Given the description of an element on the screen output the (x, y) to click on. 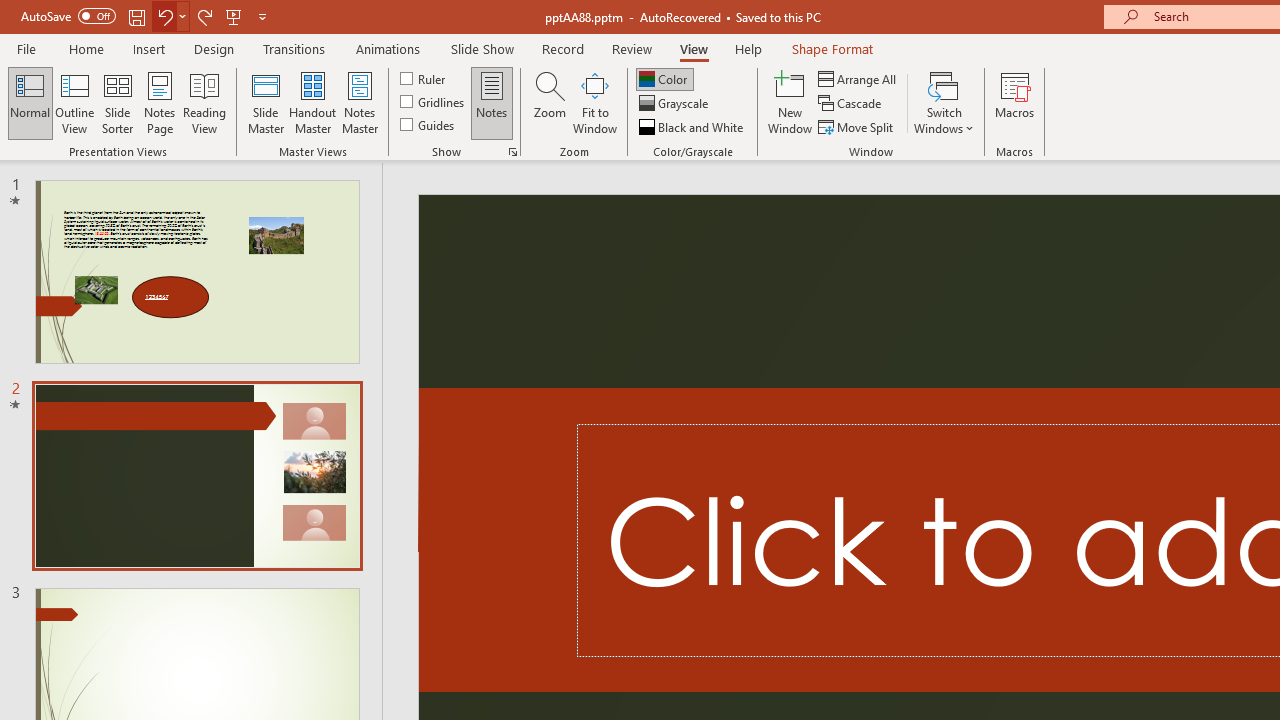
Color (664, 78)
Outline View (74, 102)
Guides (428, 124)
Zoom... (549, 102)
Fit to Window (594, 102)
Macros (1014, 102)
Ruler (423, 78)
